Given the description of an element on the screen output the (x, y) to click on. 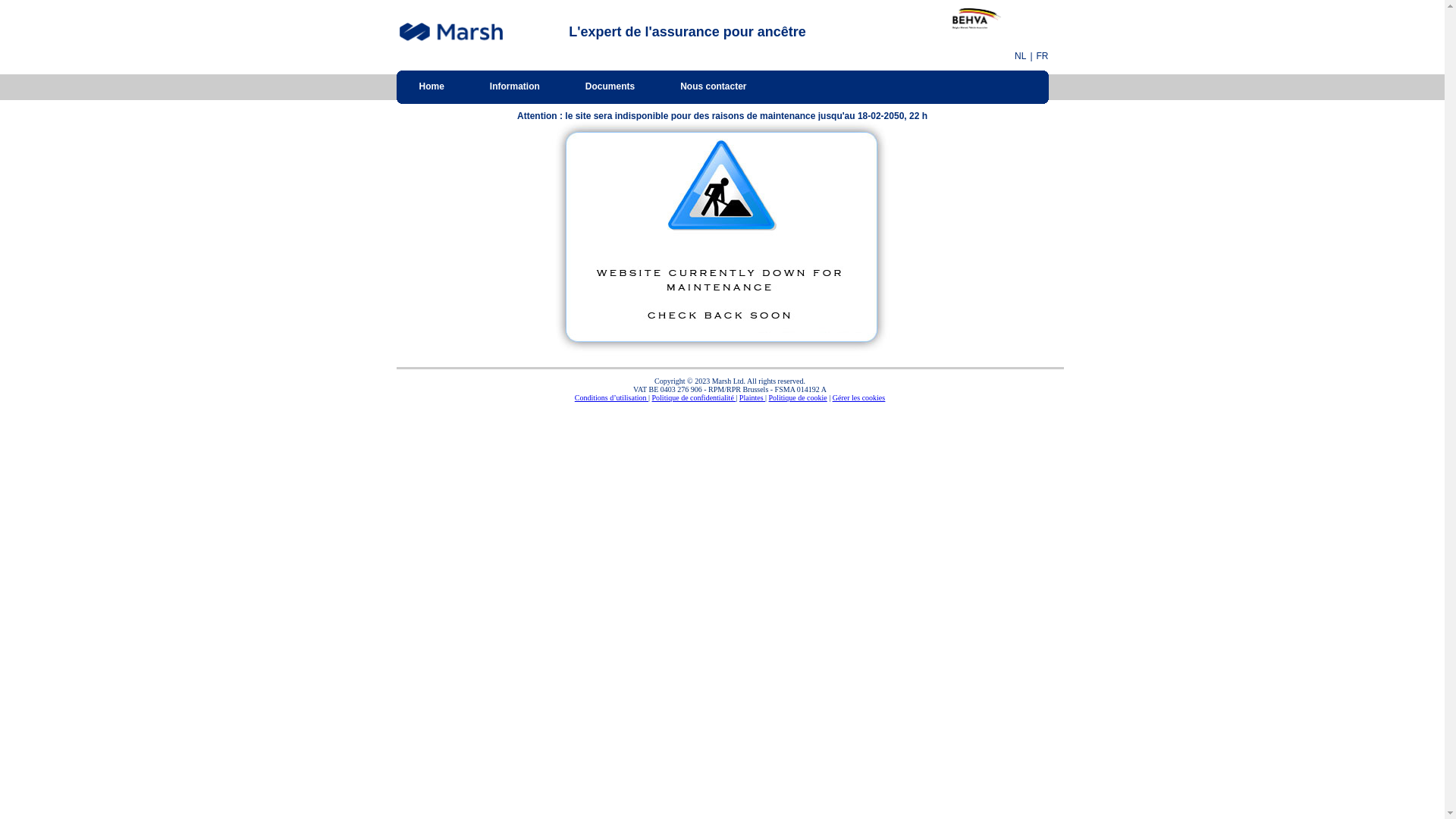
Documents Element type: text (609, 86)
Information Element type: text (514, 86)
Nous contacter Element type: text (712, 86)
FR Element type: text (1041, 55)
NL Element type: text (1020, 55)
Plaintes Element type: text (752, 397)
Home Element type: text (430, 86)
Politique de cookie Element type: text (797, 397)
